Given the description of an element on the screen output the (x, y) to click on. 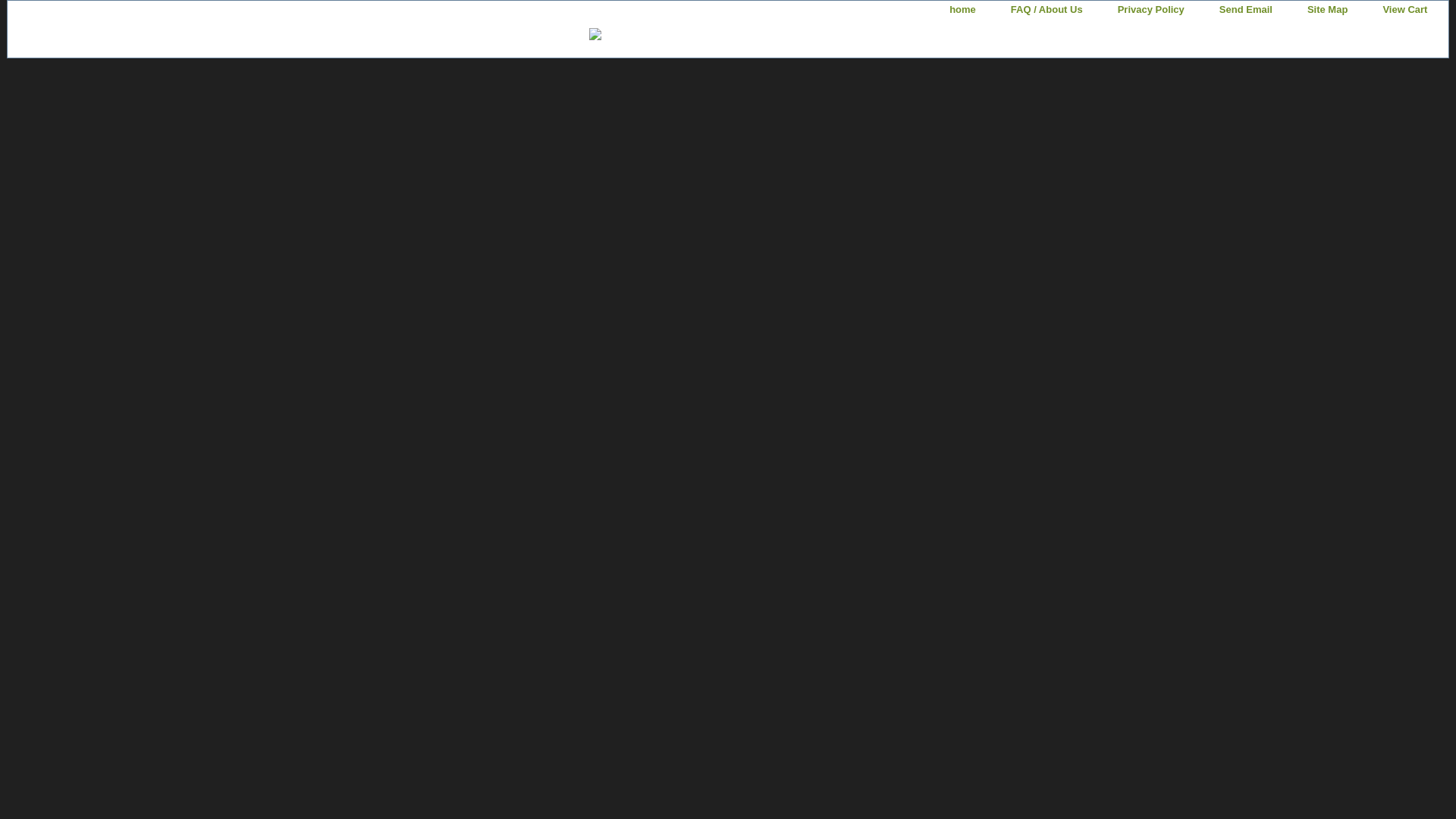
Send Email (1245, 9)
Site Map (1327, 9)
Privacy Policy (1150, 9)
View Cart (1404, 9)
home (962, 9)
